Given the description of an element on the screen output the (x, y) to click on. 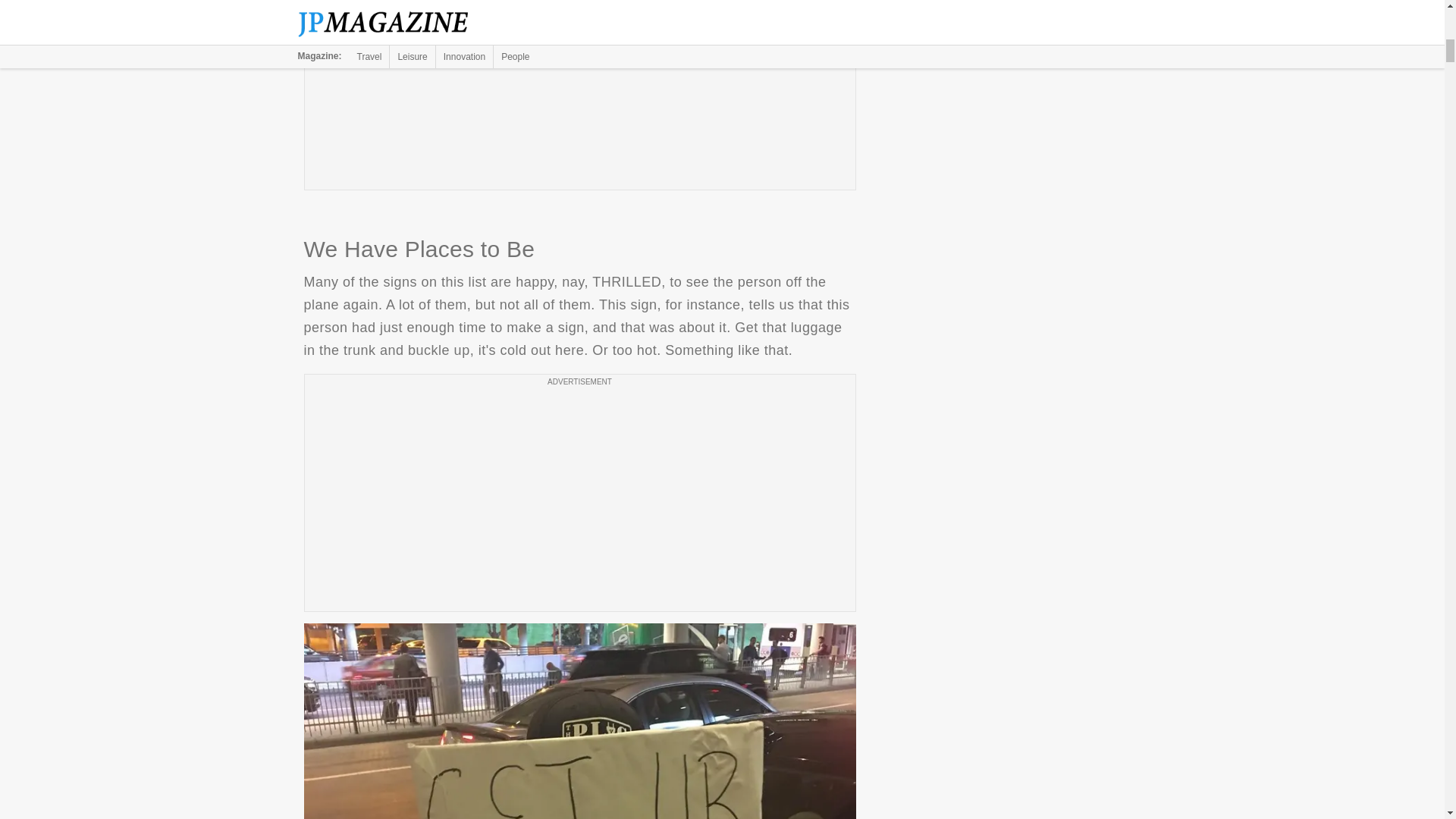
We Have Places to Be (579, 721)
